Given the description of an element on the screen output the (x, y) to click on. 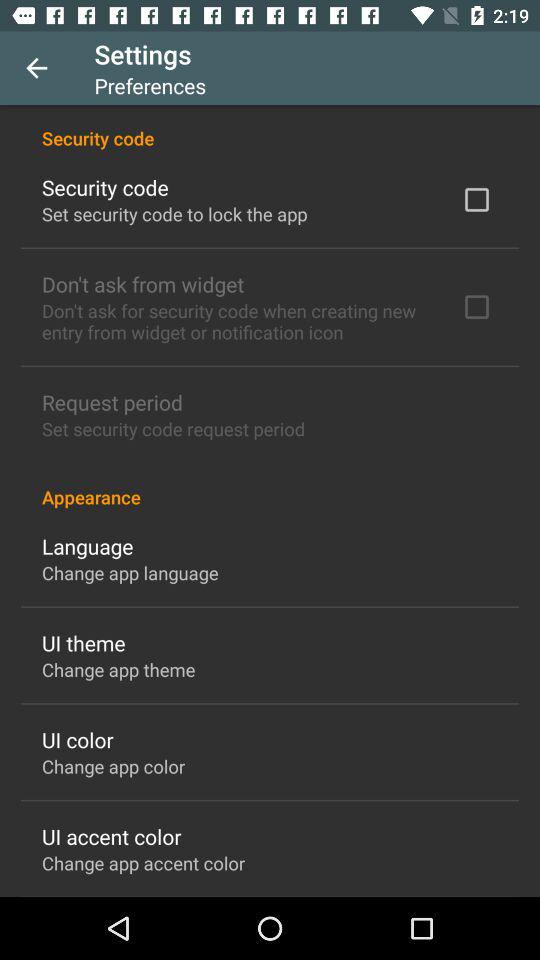
choose the icon above language (270, 486)
